Given the description of an element on the screen output the (x, y) to click on. 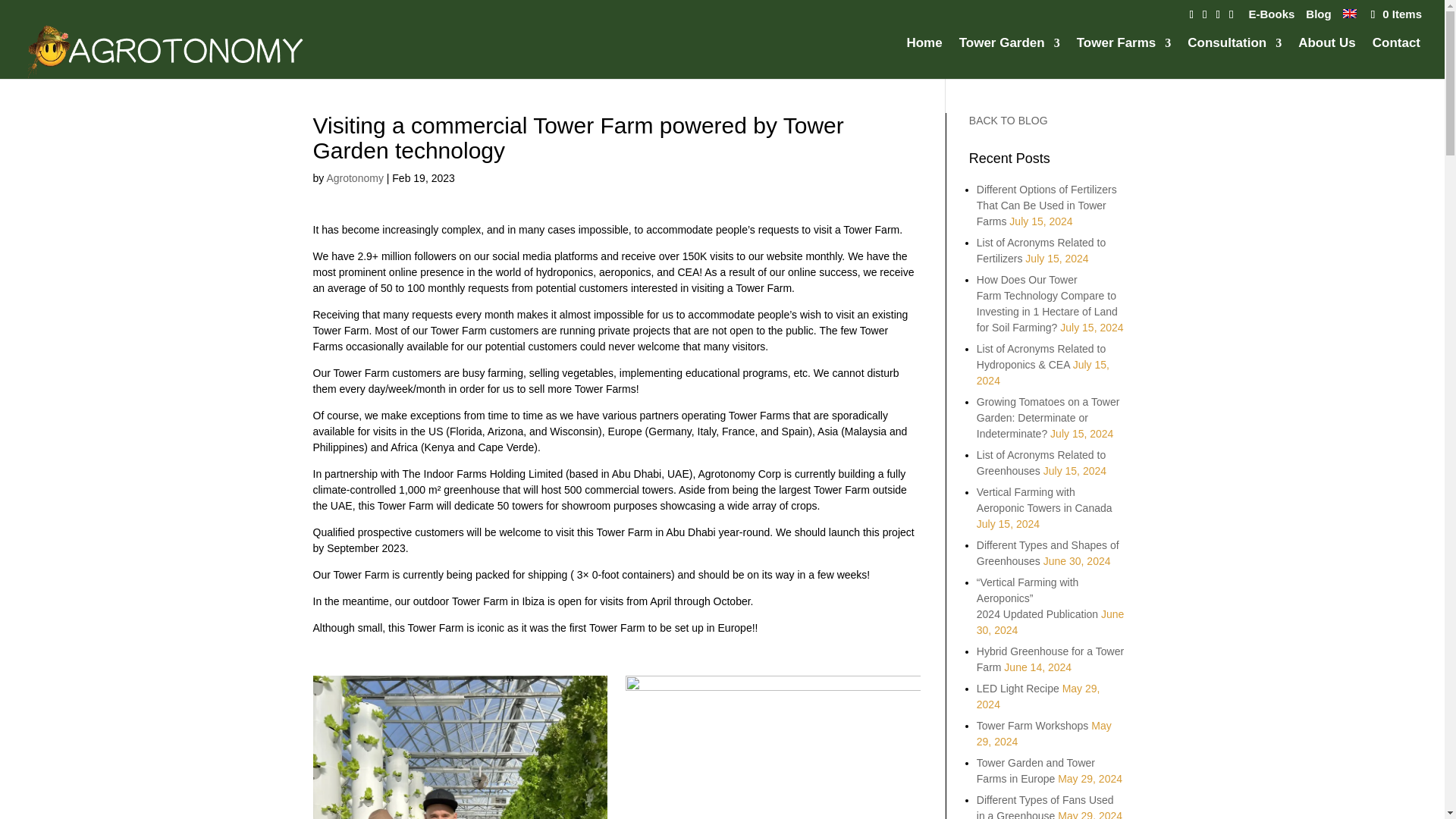
0 Items (1395, 13)
E-Books (1270, 17)
Posts by Agrotonomy (354, 177)
Contact (1397, 57)
visiting-a-vertical-farm (460, 747)
Blog (1318, 17)
Consultation (1234, 57)
Agrotonomy (354, 177)
visit-tower-farm (773, 747)
List of Acronyms Related to Greenhouses (1040, 462)
Tower Farms (1124, 57)
About Us (1326, 57)
